Given the description of an element on the screen output the (x, y) to click on. 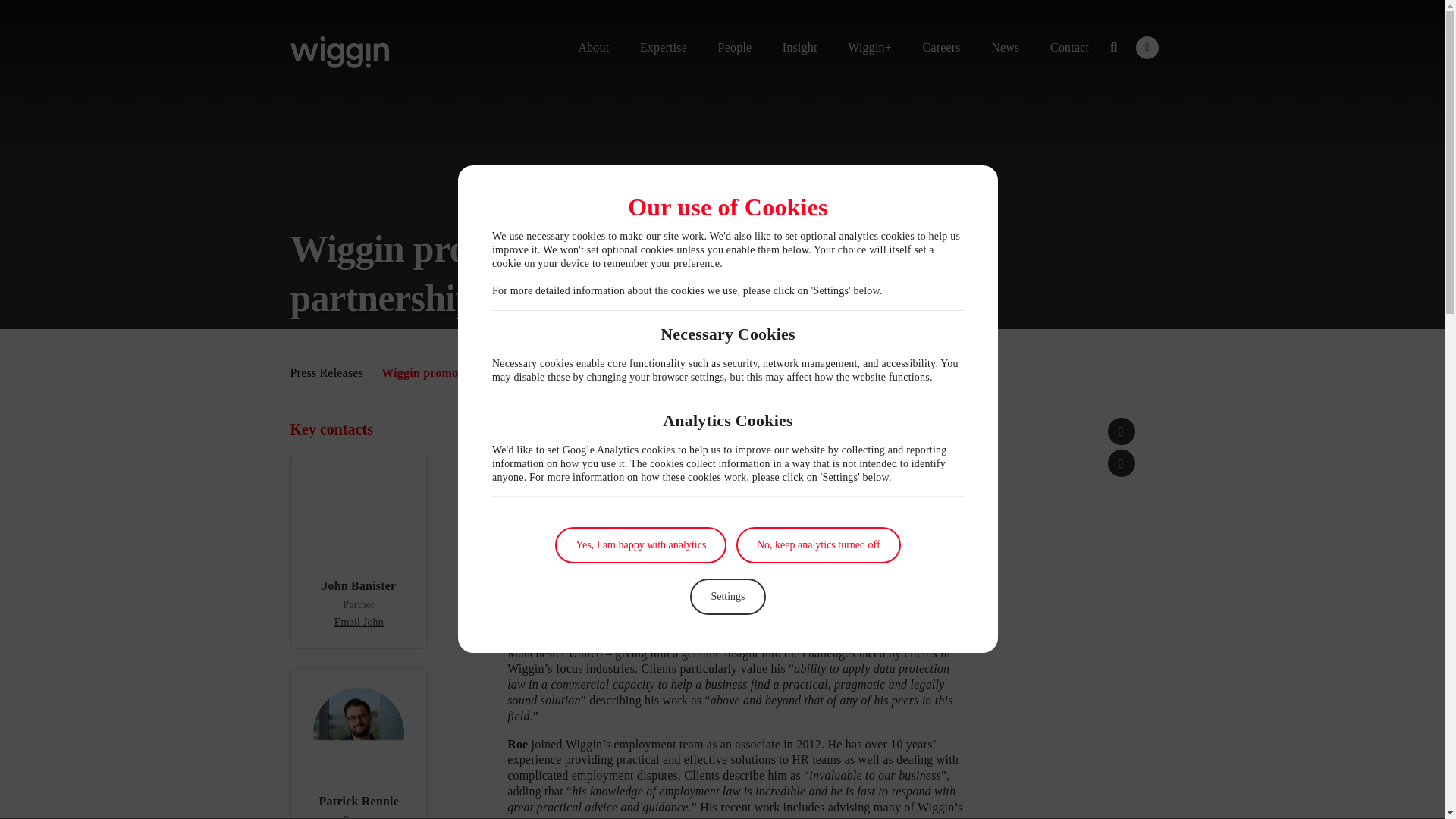
Wiggin promotes two to partnership (1121, 462)
Profile for John (358, 585)
Social Media Link (1146, 47)
About (593, 47)
Wiggin promotes two to partnership (1121, 431)
Wiggin Logo Header (338, 51)
Profile for Patrick (358, 800)
Expertise (662, 47)
Insight (799, 47)
Search (1112, 47)
